Given the description of an element on the screen output the (x, y) to click on. 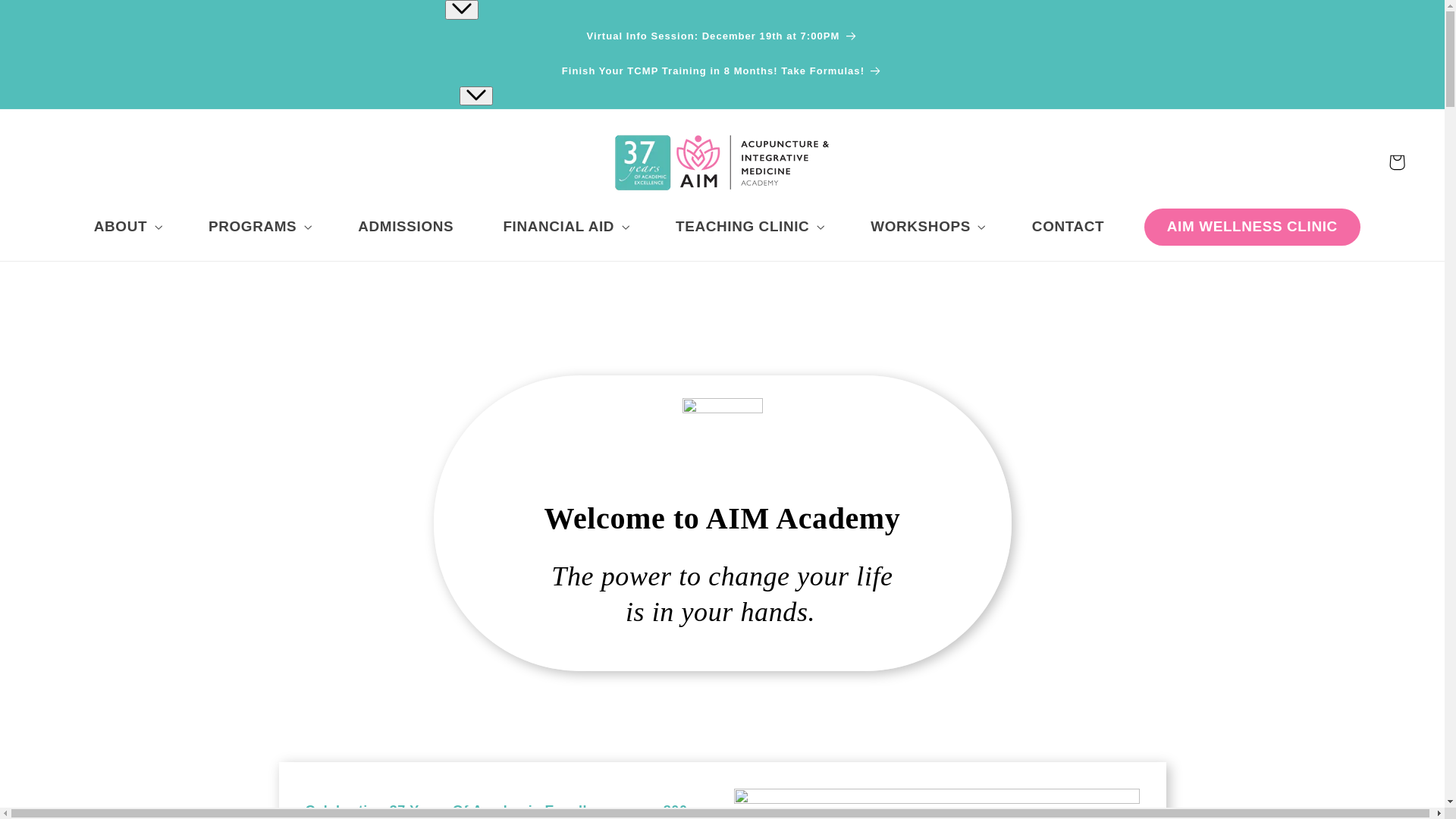
CONTACT Element type: text (1067, 226)
ADMISSIONS Element type: text (405, 226)
Virtual Info Session: December 19th at 7:00PM Element type: text (722, 36)
AIM WELLNESS CLINIC Element type: text (1252, 226)
Finish Your TCMP Training in 8 Months! Take Formulas! Element type: text (722, 70)
Cart Element type: text (1396, 161)
